Given the description of an element on the screen output the (x, y) to click on. 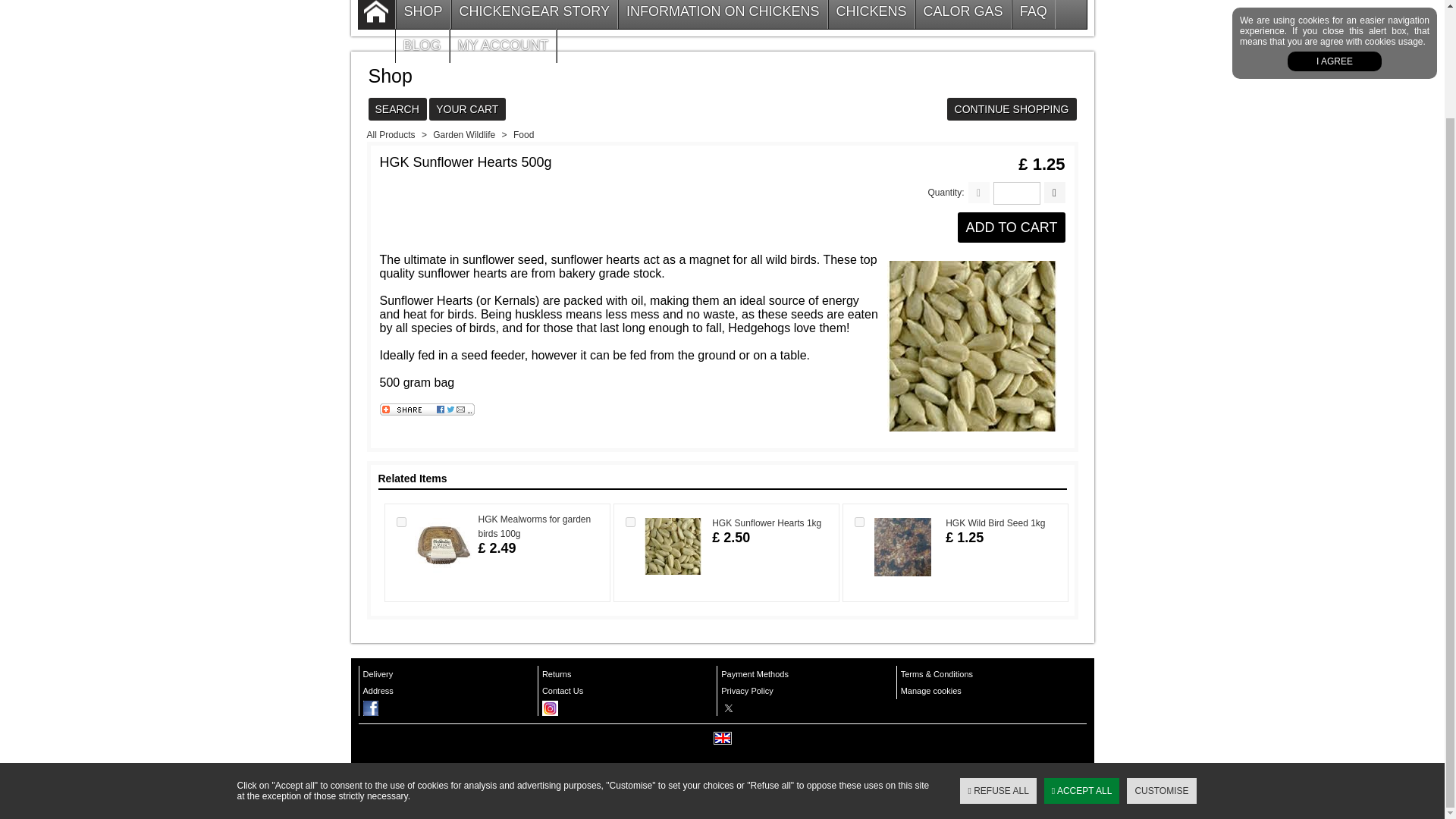
FAQ (1032, 14)
Food (523, 134)
CONTINUE SHOPPING (1012, 109)
BLOG (422, 45)
CHICKENS (871, 14)
INFORMATION ON CHICKENS (722, 14)
Garden Wildlife (463, 134)
SEARCH (397, 109)
Share (426, 412)
SHOP (422, 14)
